Given the description of an element on the screen output the (x, y) to click on. 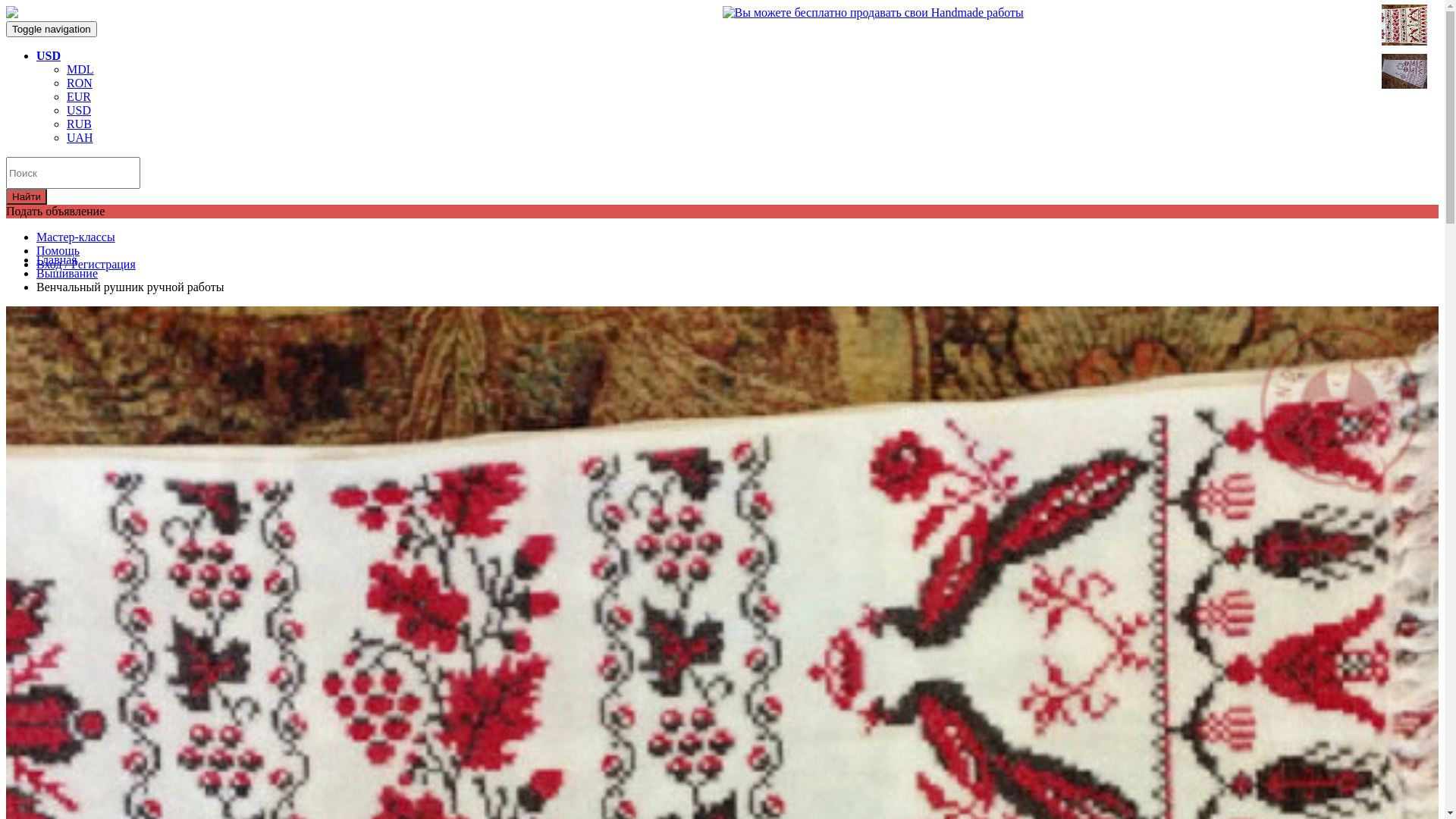
USD Element type: text (78, 109)
UAH Element type: text (79, 137)
RON Element type: text (79, 82)
EUR Element type: text (78, 96)
MDL Element type: text (80, 68)
RUB Element type: text (78, 123)
Toggle navigation Element type: text (51, 29)
USD Element type: text (48, 55)
